Given the description of an element on the screen output the (x, y) to click on. 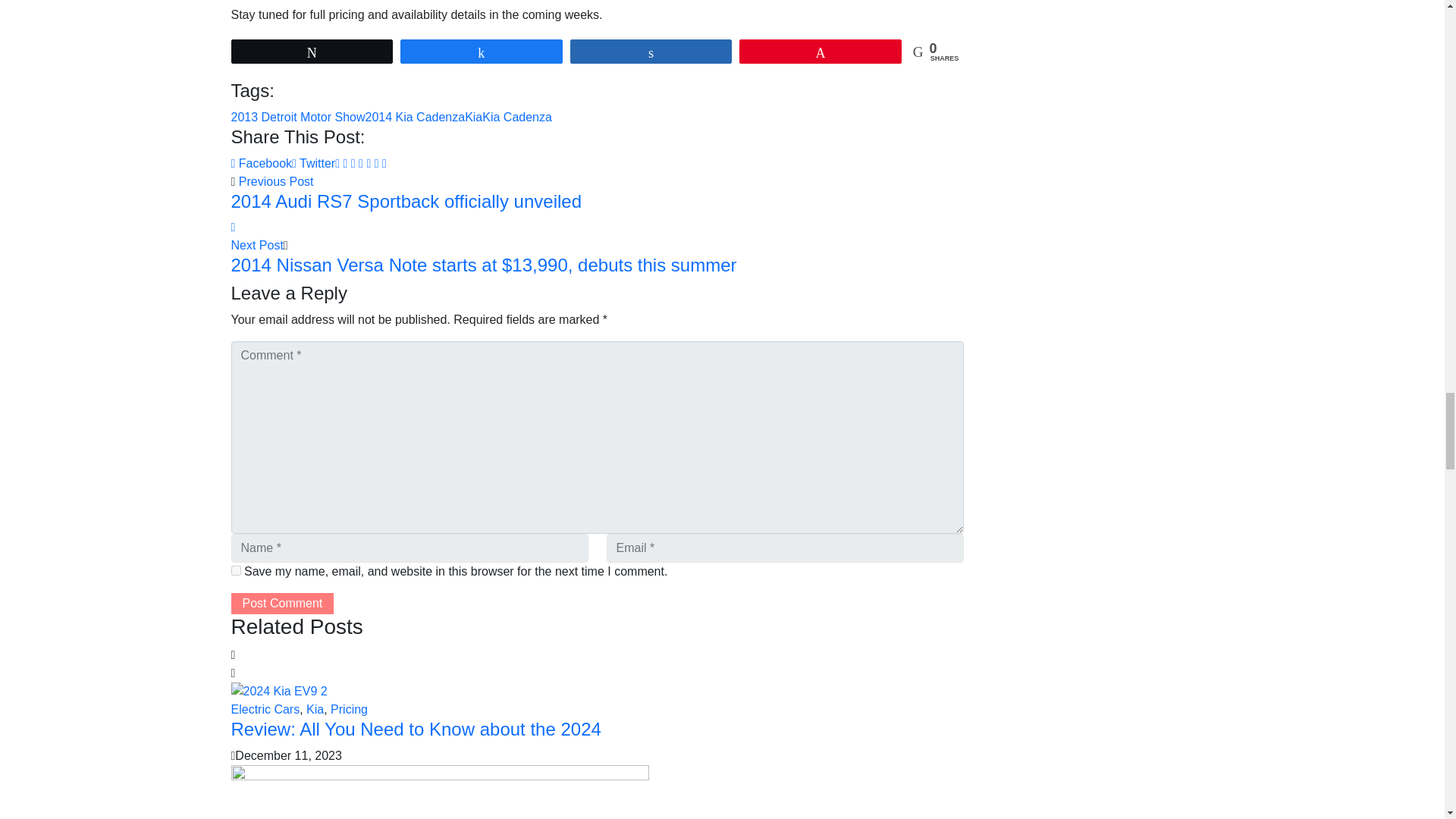
Post Comment (281, 603)
yes (235, 570)
